Given the description of an element on the screen output the (x, y) to click on. 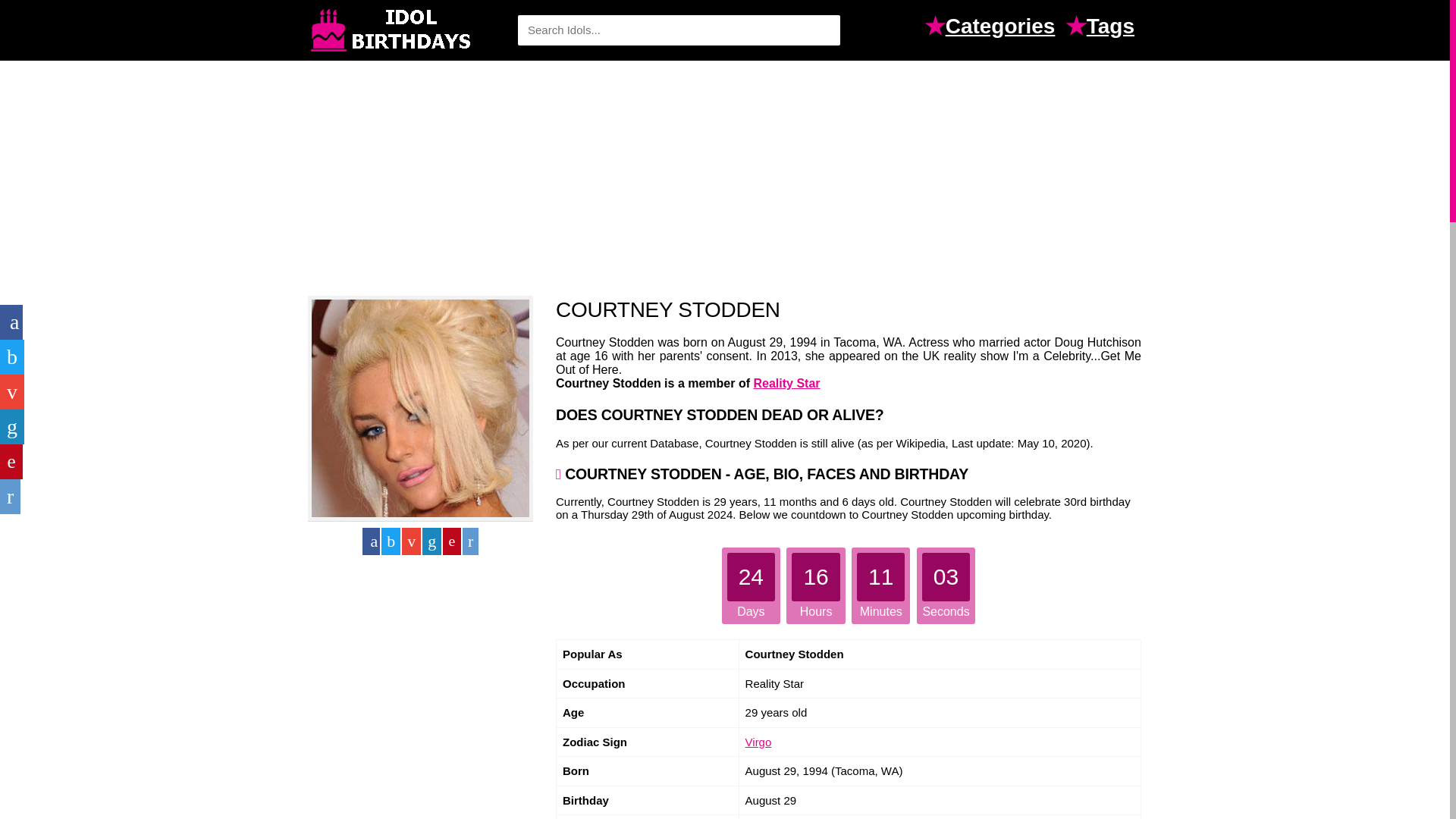
SEARCH (820, 30)
Categories (1003, 28)
Tags (1113, 28)
Courtney Stodden (420, 407)
Tags (1113, 28)
